Given the description of an element on the screen output the (x, y) to click on. 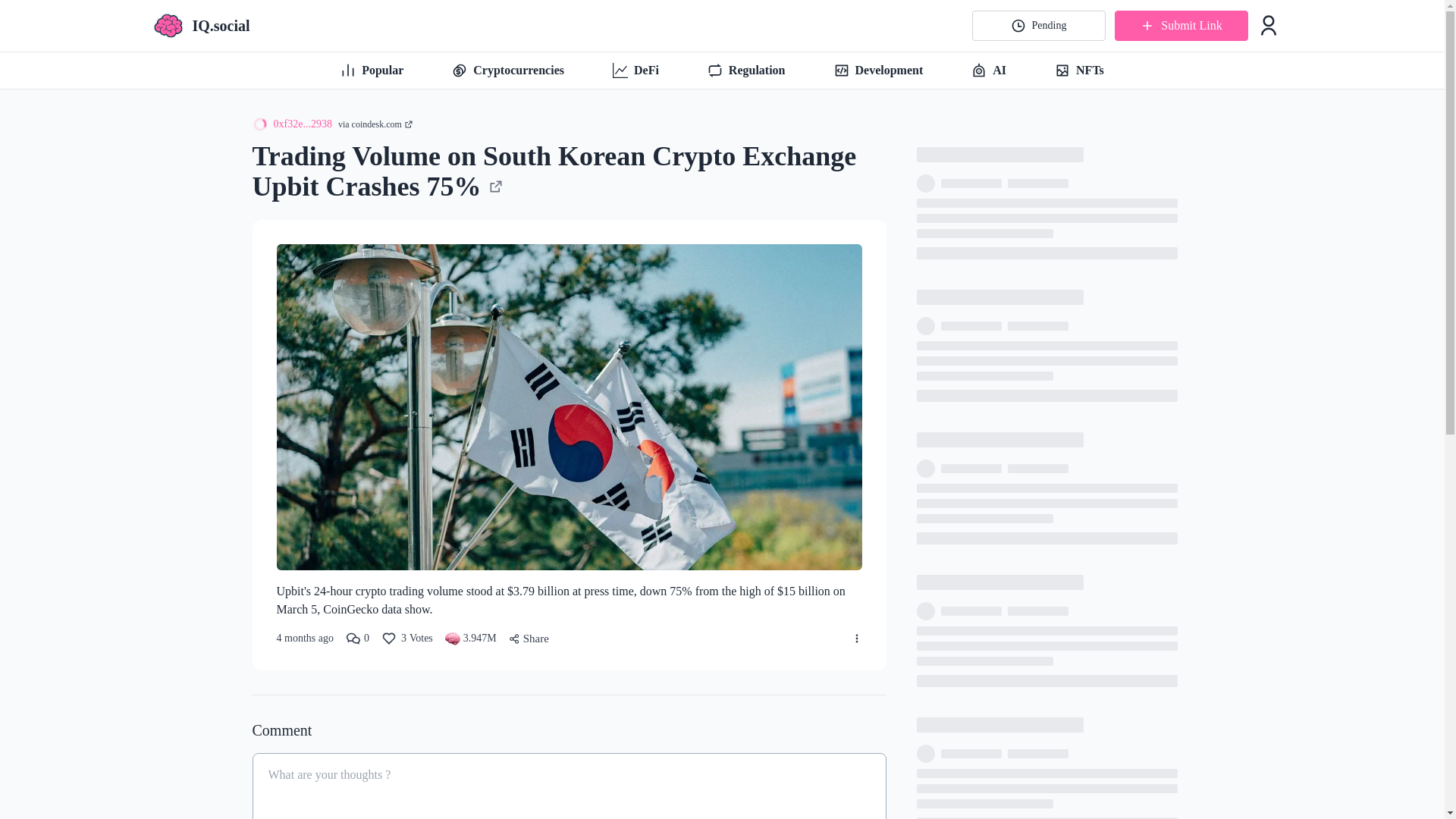
IQ.social (201, 25)
Popular (371, 70)
0xf32e...2938 (291, 124)
Pending (1038, 25)
Development (406, 638)
via coindesk.com (879, 70)
DeFi (375, 123)
AI (636, 70)
0 (988, 70)
Cryptocurrencies (357, 638)
Share (507, 70)
NFTs (528, 638)
Regulation (1079, 70)
Submit Link (746, 70)
